Given the description of an element on the screen output the (x, y) to click on. 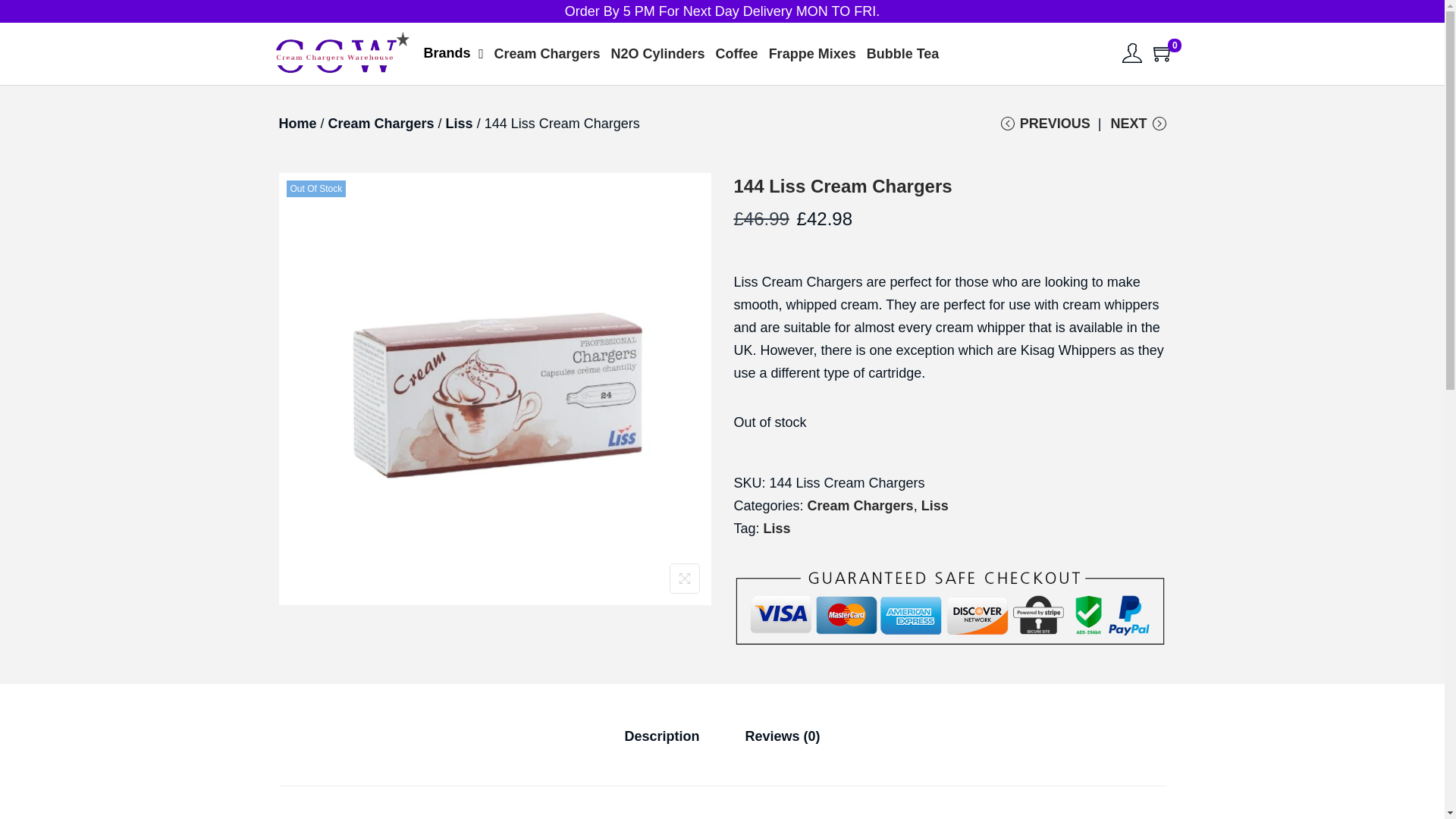
N2O Cylinders (657, 53)
Bubble Tea (902, 53)
Cream Chargers (546, 53)
Coffee (736, 53)
Frappe Mixes (811, 53)
